Given the description of an element on the screen output the (x, y) to click on. 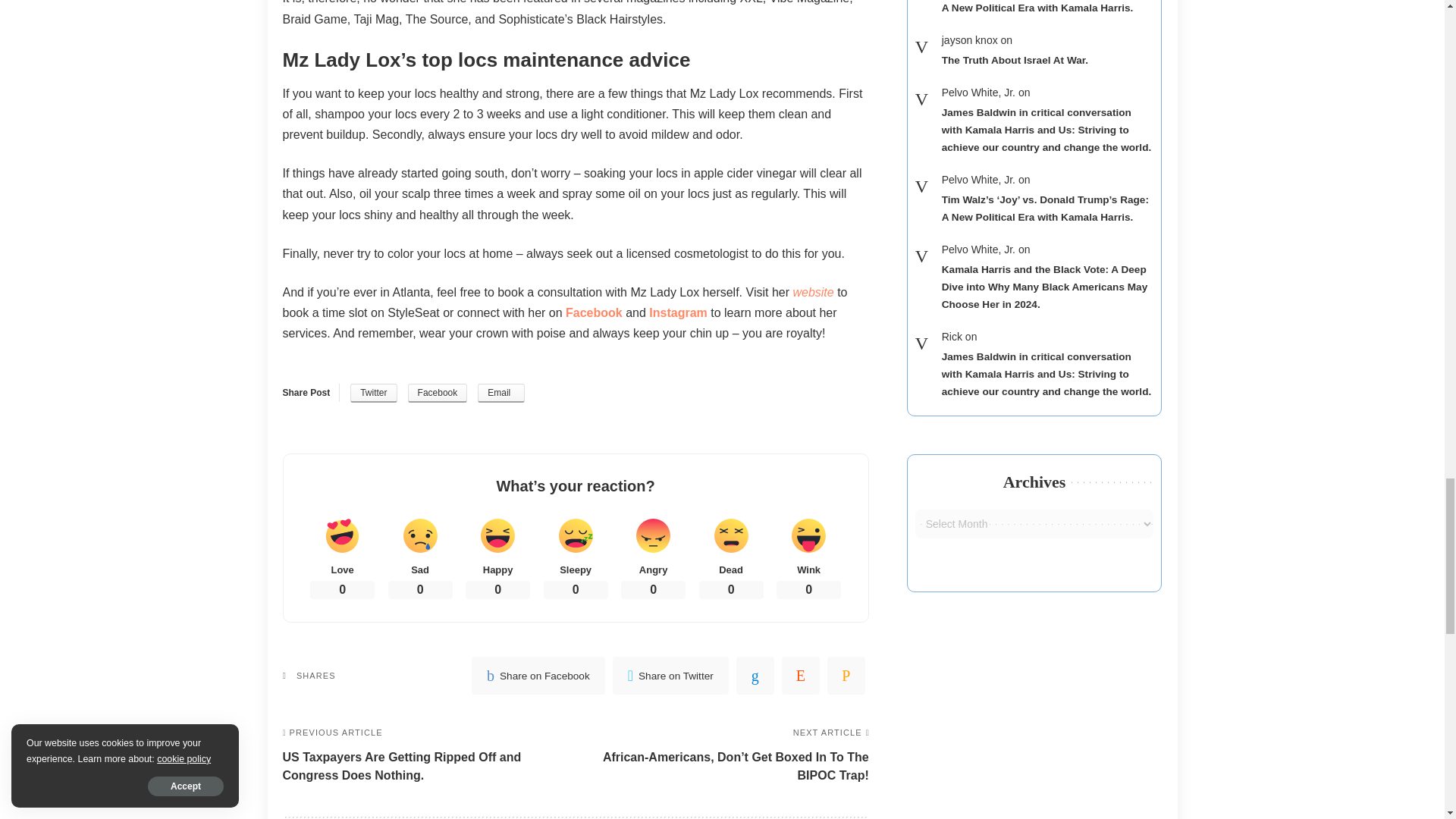
Share on Facebook (437, 393)
Share by email to a friend (500, 393)
Share on Twitter (373, 393)
